Given the description of an element on the screen output the (x, y) to click on. 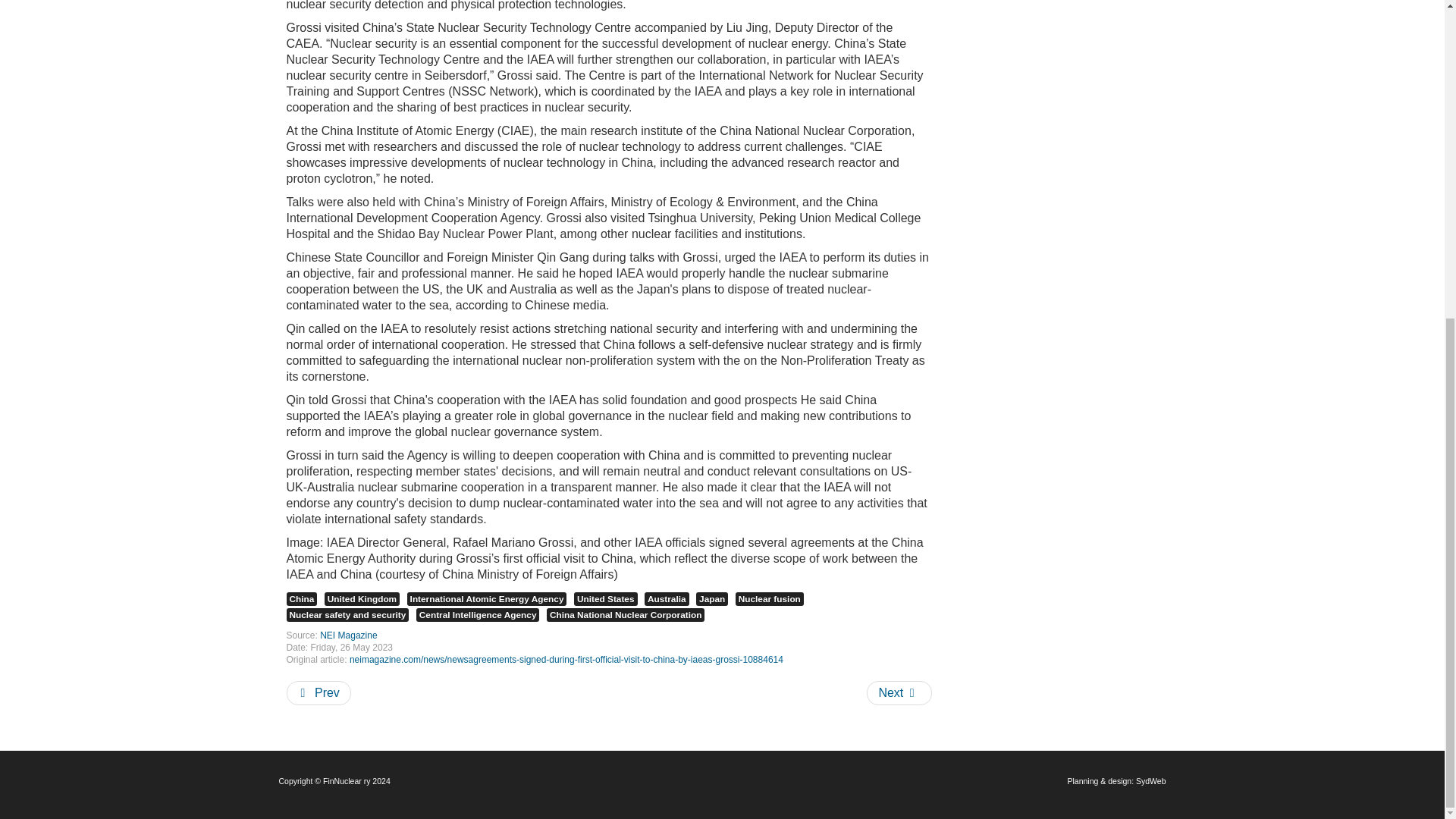
China National Nuclear Corporation (625, 614)
Prev (318, 692)
SydWeb (1150, 780)
NEI Magazine (348, 634)
Next (898, 692)
Central Intelligence Agency (478, 614)
China (301, 599)
United States (605, 599)
Australia (666, 599)
Nuclear safety and security (347, 614)
